Given the description of an element on the screen output the (x, y) to click on. 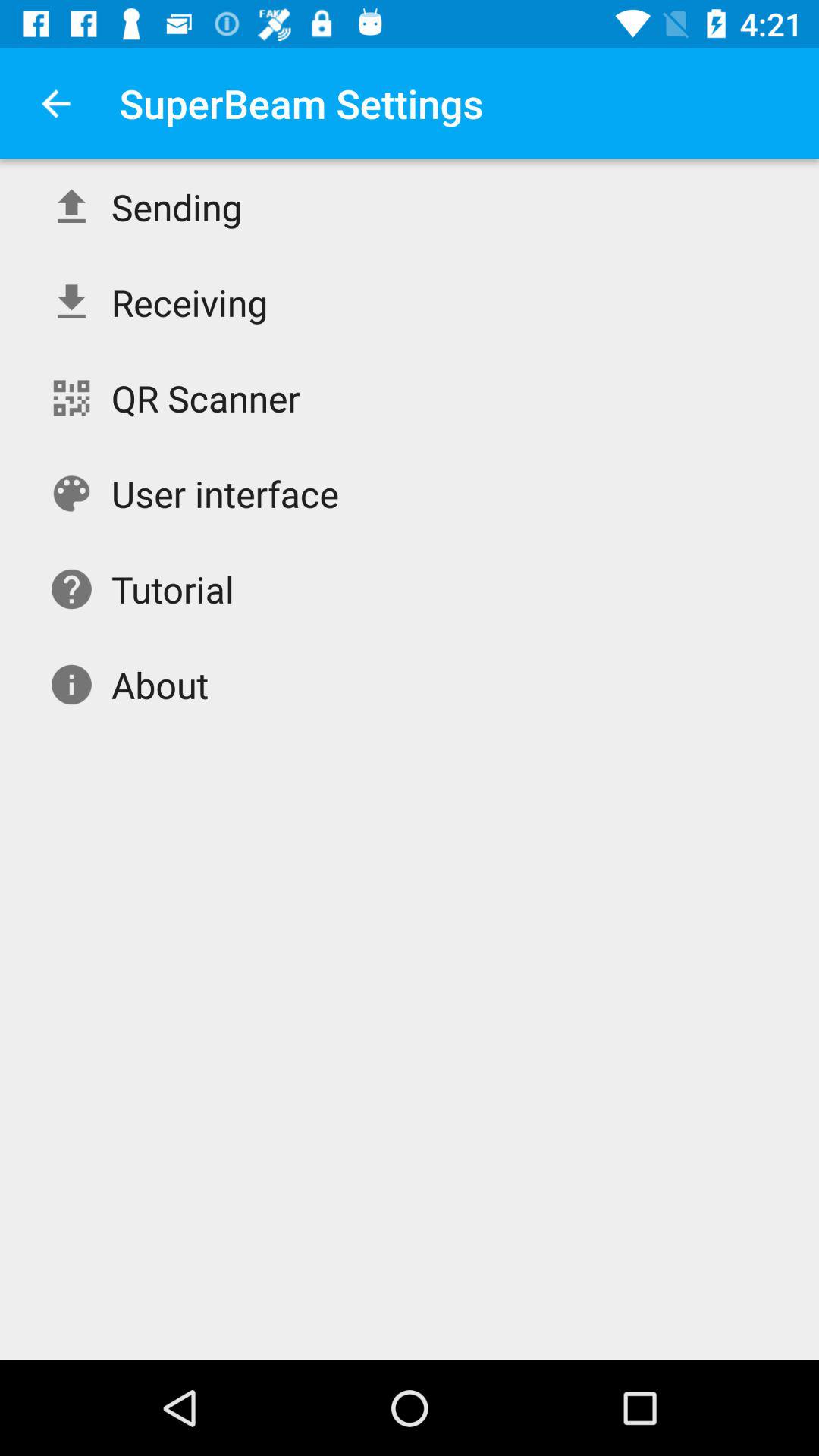
tap about item (159, 684)
